Given the description of an element on the screen output the (x, y) to click on. 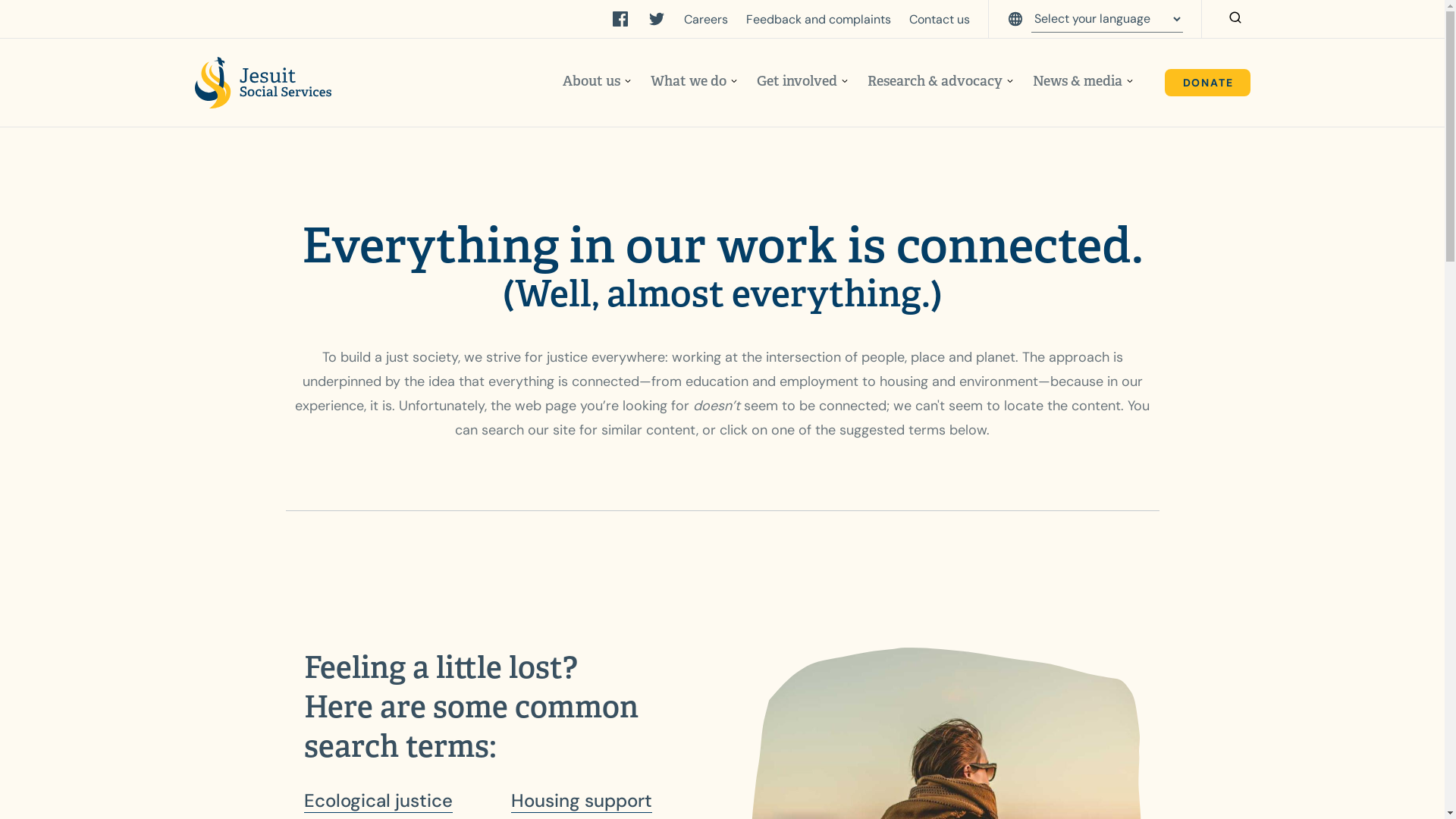
News & media Element type: text (1077, 80)
What we do Element type: text (688, 80)
Facebook Element type: text (620, 18)
Research & advocacy Element type: text (934, 80)
Open submenu links for Research & advocacy Element type: text (1009, 81)
About us Element type: text (591, 80)
Get involved Element type: text (796, 80)
Housing support Element type: text (581, 800)
DONATE Element type: text (1207, 82)
Open submenu links for What we do Element type: text (733, 81)
Feedback and complaints Element type: text (818, 19)
Open submenu links for About us Element type: text (627, 81)
Ecological justice Element type: text (377, 800)
Skip to content Element type: text (17, 17)
Open submenu links for Get involved Element type: text (844, 81)
Open submenu links for News & media Element type: text (1129, 81)
Search website Element type: text (1234, 18)
Contact us Element type: text (938, 19)
Careers Element type: text (706, 19)
Twitter Element type: text (656, 18)
